Given the description of an element on the screen output the (x, y) to click on. 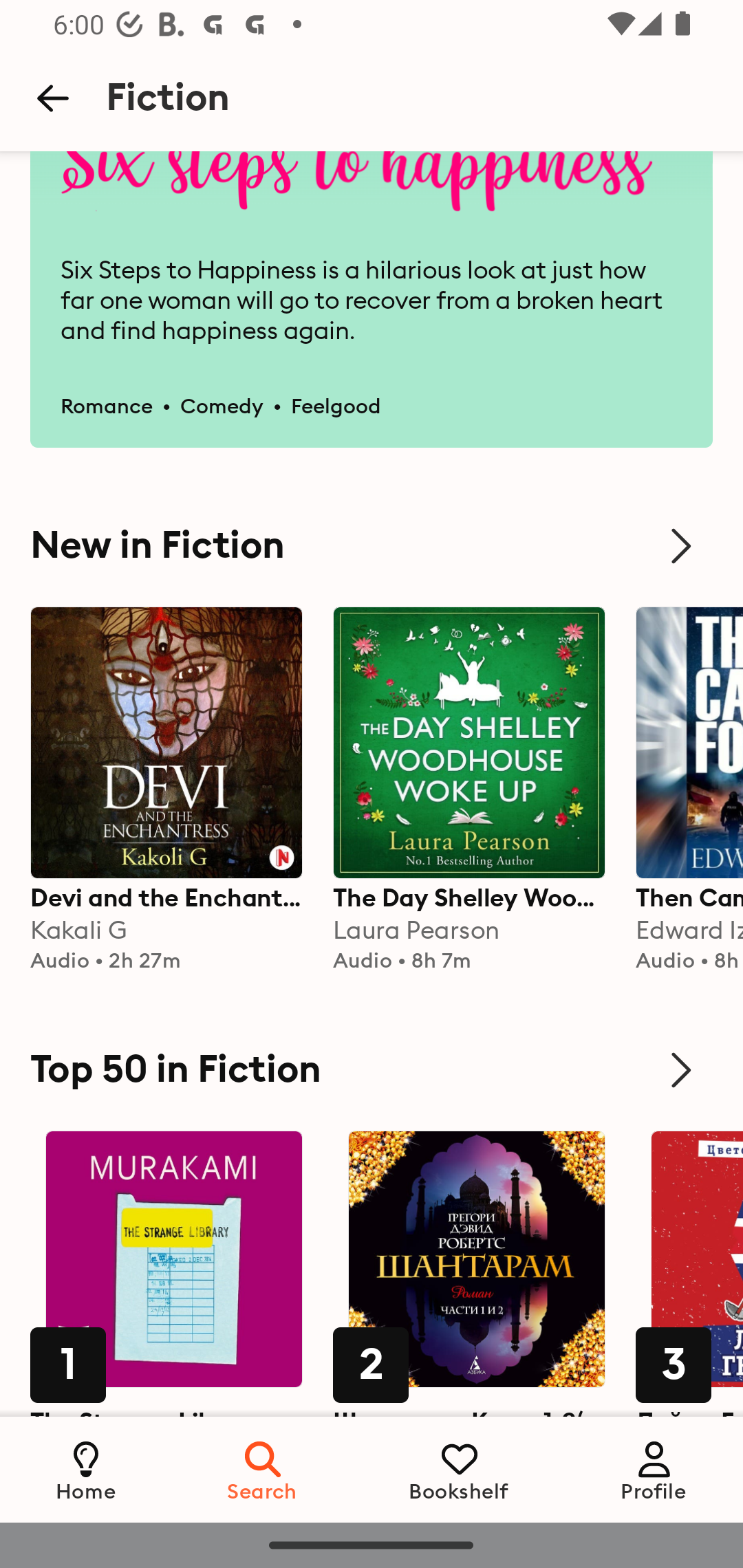
Back (52, 98)
New in Fiction (371, 546)
Top 50 in Fiction (371, 1069)
Home (85, 1468)
Search (262, 1468)
Bookshelf (458, 1468)
Profile (653, 1468)
